Given the description of an element on the screen output the (x, y) to click on. 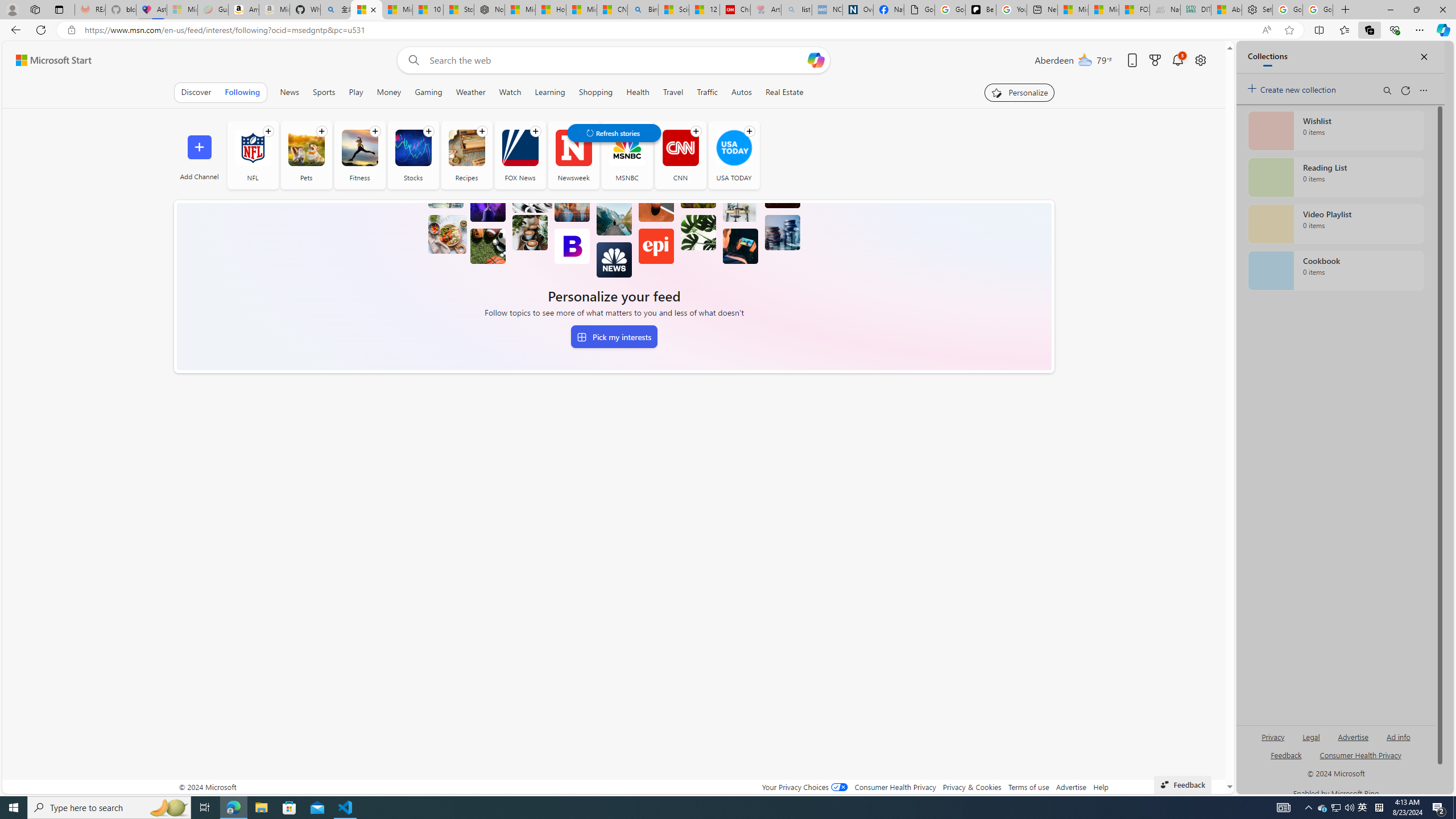
Health (637, 92)
Autos (741, 92)
AutomationID: sb_feedback (1286, 754)
AutomationID: genId96 (1285, 759)
Bing (642, 9)
MSNBC (626, 155)
NFL (252, 147)
Science - MSN (673, 9)
Travel (672, 92)
Shopping (596, 92)
